Given the description of an element on the screen output the (x, y) to click on. 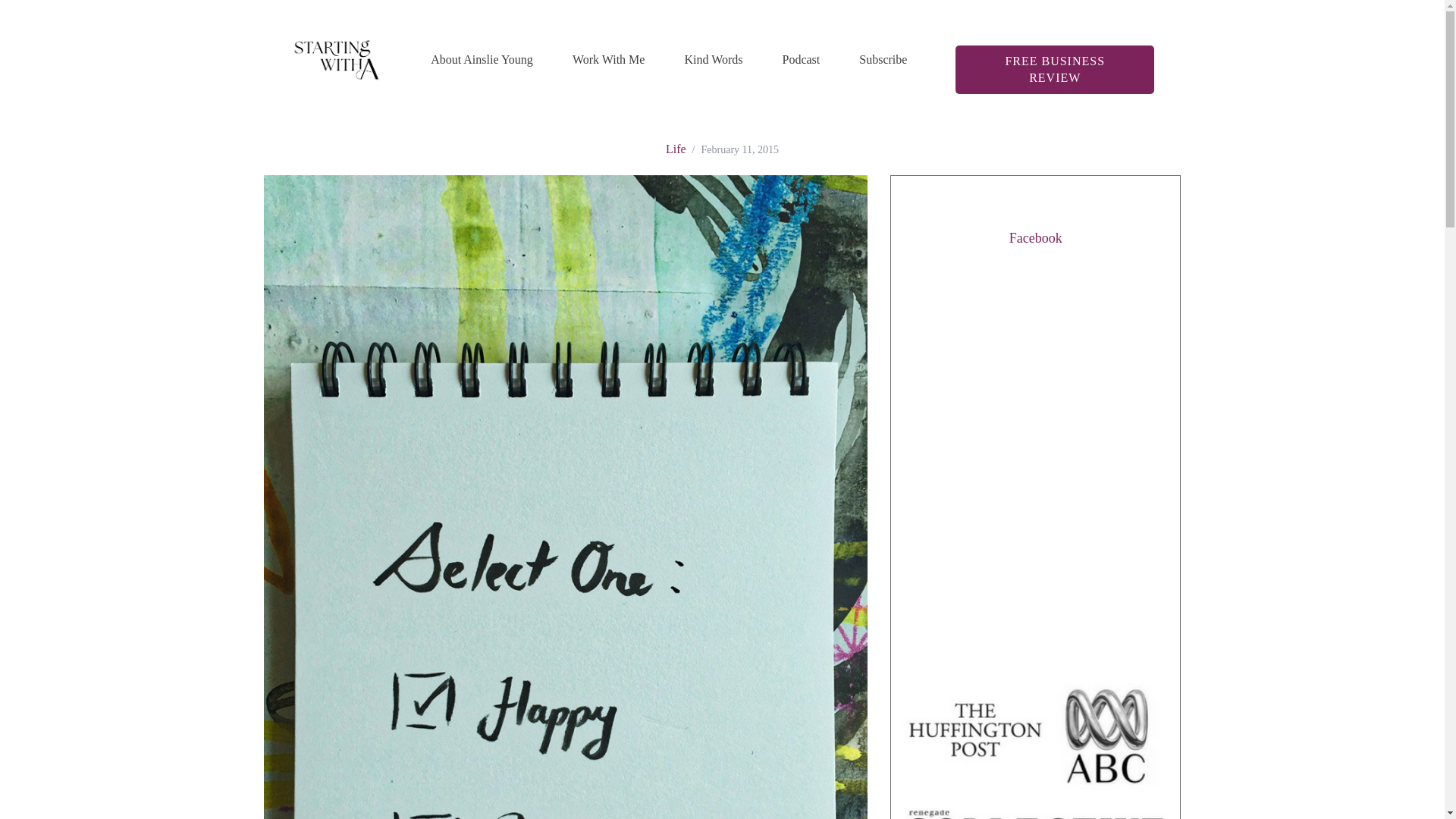
Podcast (801, 59)
Life (675, 148)
FREE BUSINESS REVIEW (1054, 69)
Facebook (1035, 237)
Work With Me (609, 59)
Subscribe (883, 59)
Starting with A - Primary (335, 59)
Kind Words (712, 59)
About Ainslie Young (481, 59)
